Given the description of an element on the screen output the (x, y) to click on. 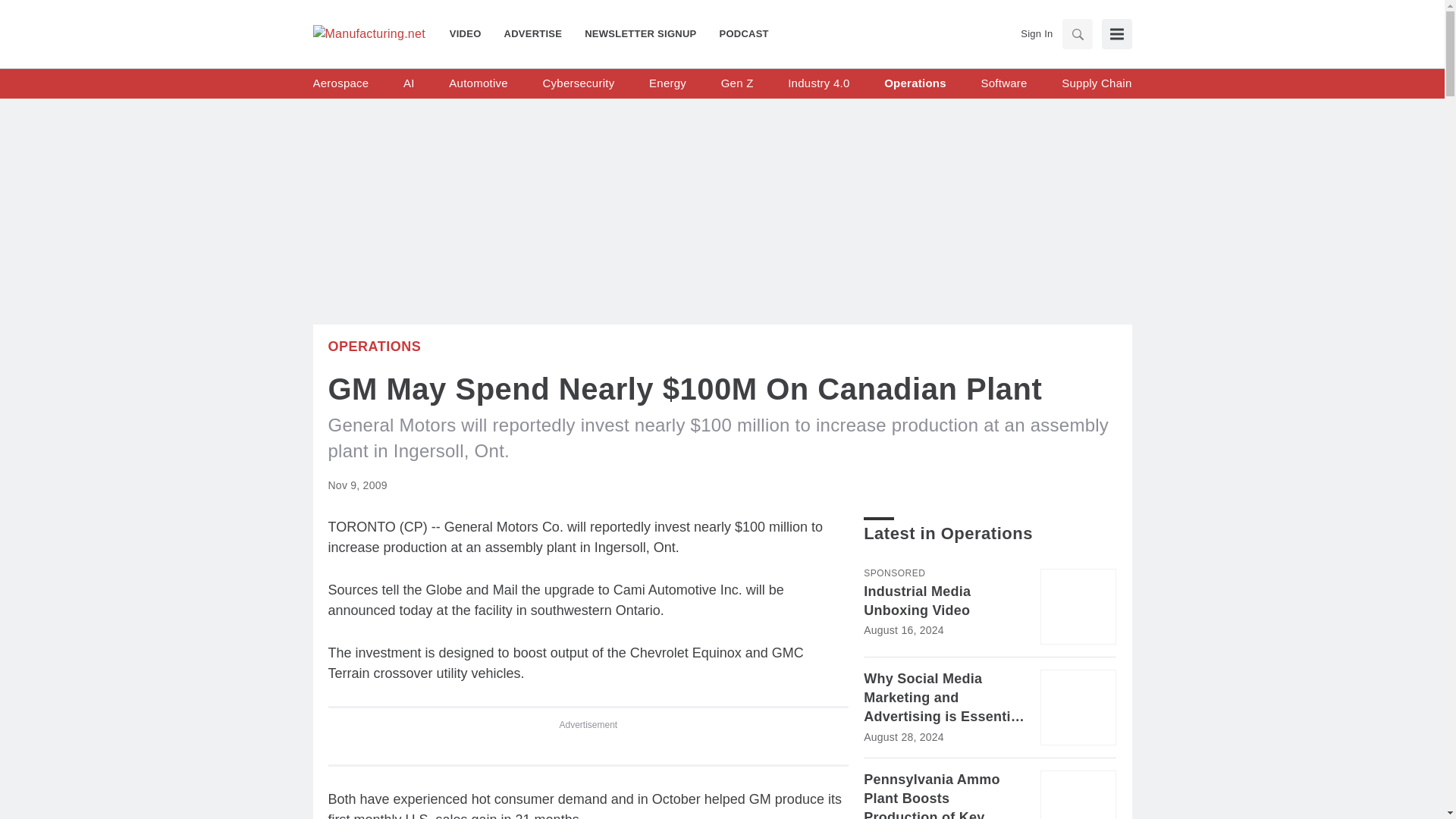
Automotive (478, 83)
VIDEO (471, 33)
Aerospace (340, 83)
Sign In (1036, 33)
Sponsored (893, 573)
Energy (667, 83)
Software (1002, 83)
Industry 4.0 (817, 83)
Operations (373, 346)
Cybersecurity (577, 83)
